Given the description of an element on the screen output the (x, y) to click on. 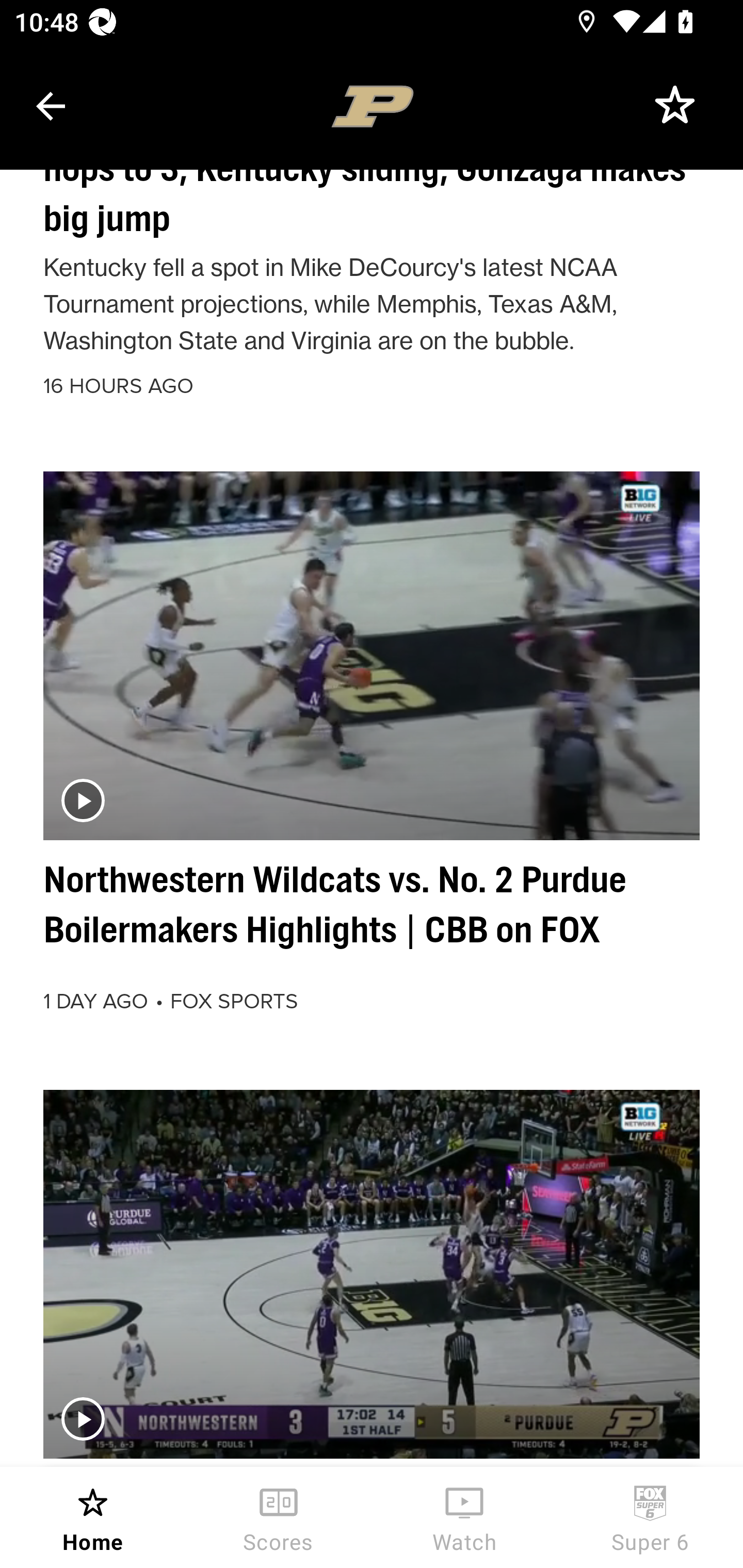
Navigate up (50, 106)
Scores (278, 1517)
Watch (464, 1517)
Super 6 (650, 1517)
